Given the description of an element on the screen output the (x, y) to click on. 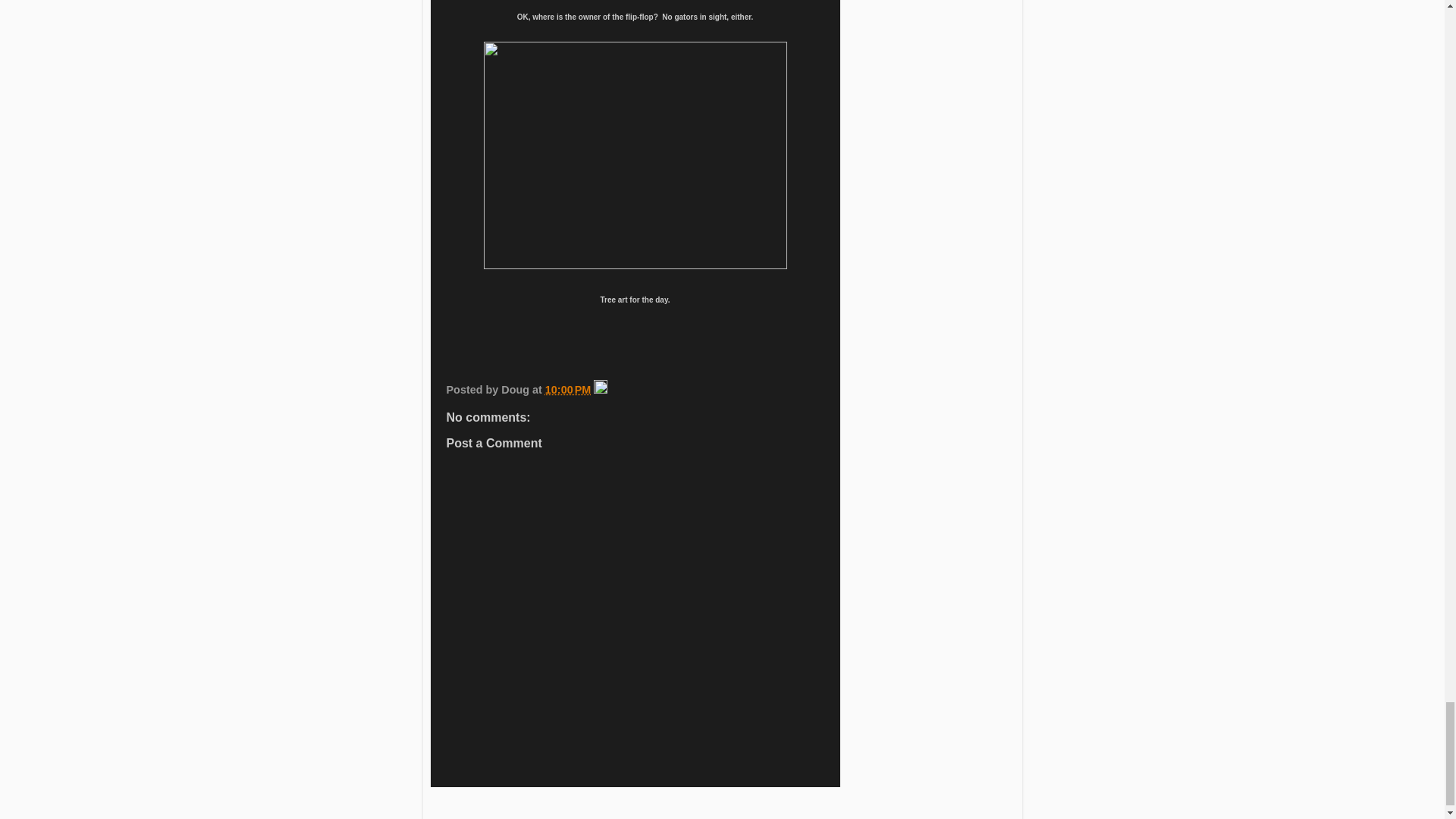
permanent link (567, 389)
Edit Post (600, 389)
